Given the description of an element on the screen output the (x, y) to click on. 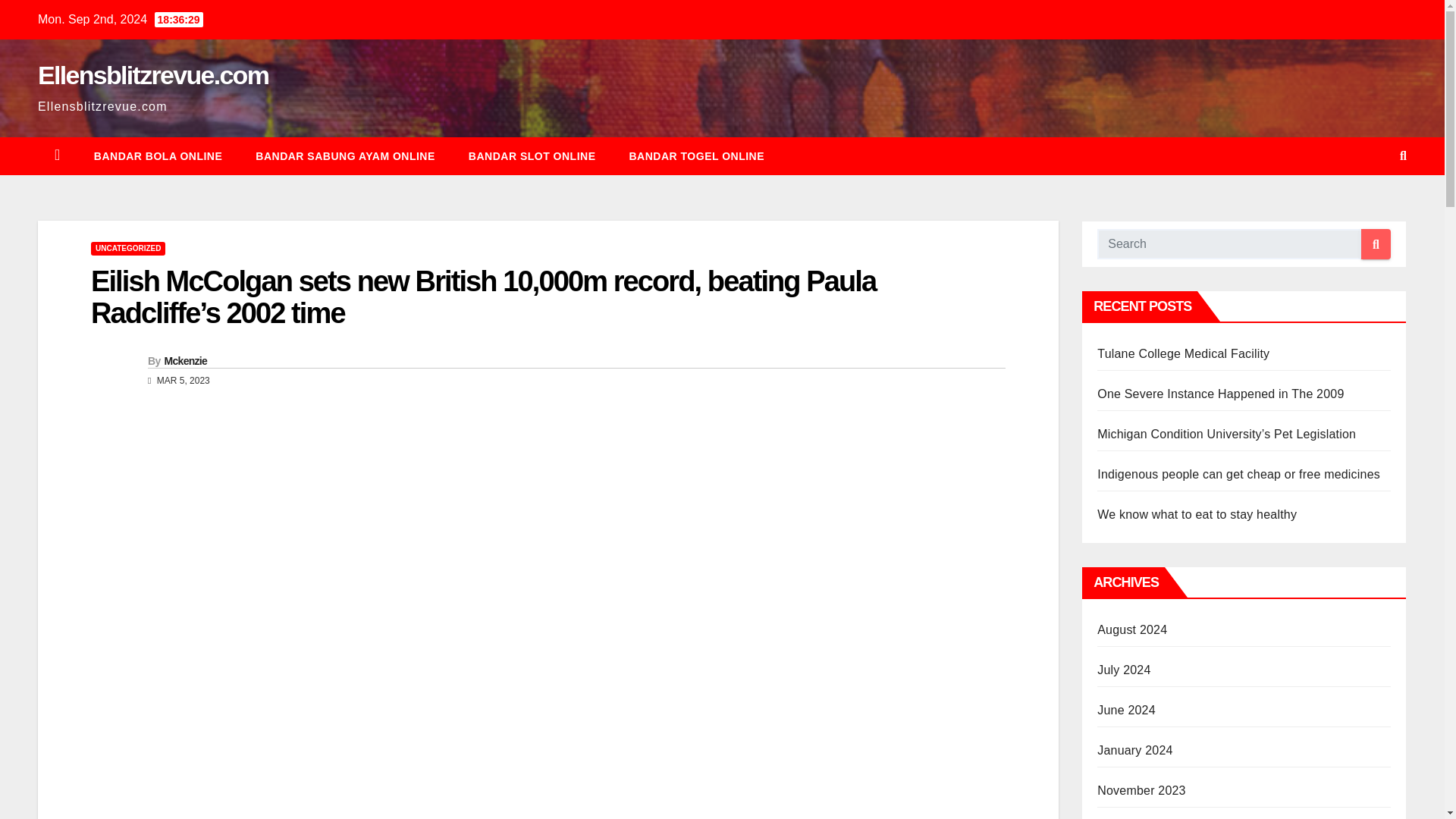
Mckenzie (184, 360)
Bandar Slot Online (531, 156)
BANDAR TOGEL ONLINE (696, 156)
Ellensblitzrevue.com (152, 74)
Bandar Bola Online (157, 156)
BANDAR SABUNG AYAM ONLINE (344, 156)
Bandar Sabung Ayam Online (344, 156)
BANDAR SLOT ONLINE (531, 156)
UNCATEGORIZED (127, 248)
Bandar Togel Online (696, 156)
